Given the description of an element on the screen output the (x, y) to click on. 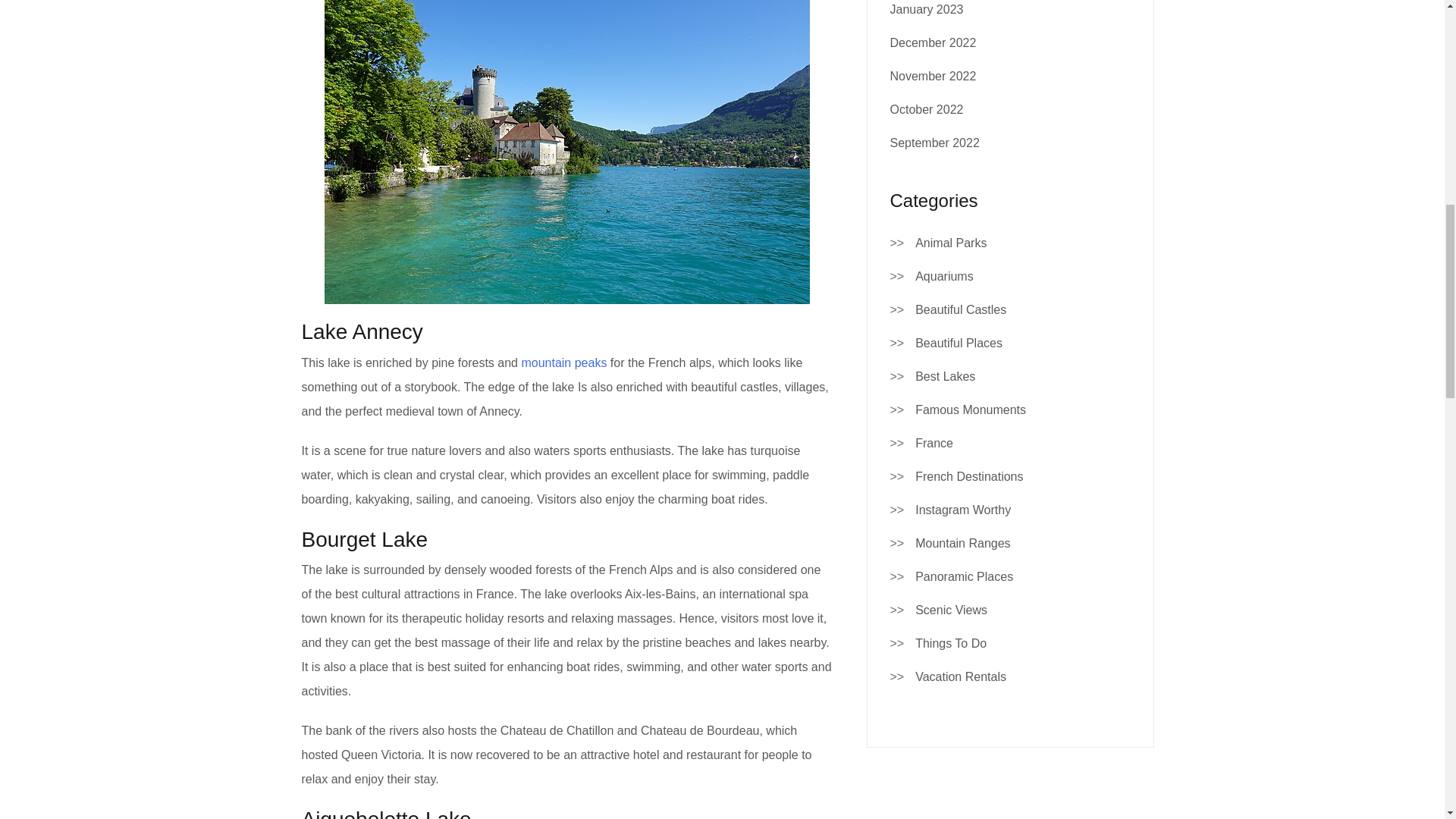
December 2022 (932, 42)
November 2022 (932, 75)
mountain peaks (562, 362)
October 2022 (926, 109)
September 2022 (934, 142)
Aquariums (943, 276)
Animal Parks (951, 243)
January 2023 (926, 9)
